Given the description of an element on the screen output the (x, y) to click on. 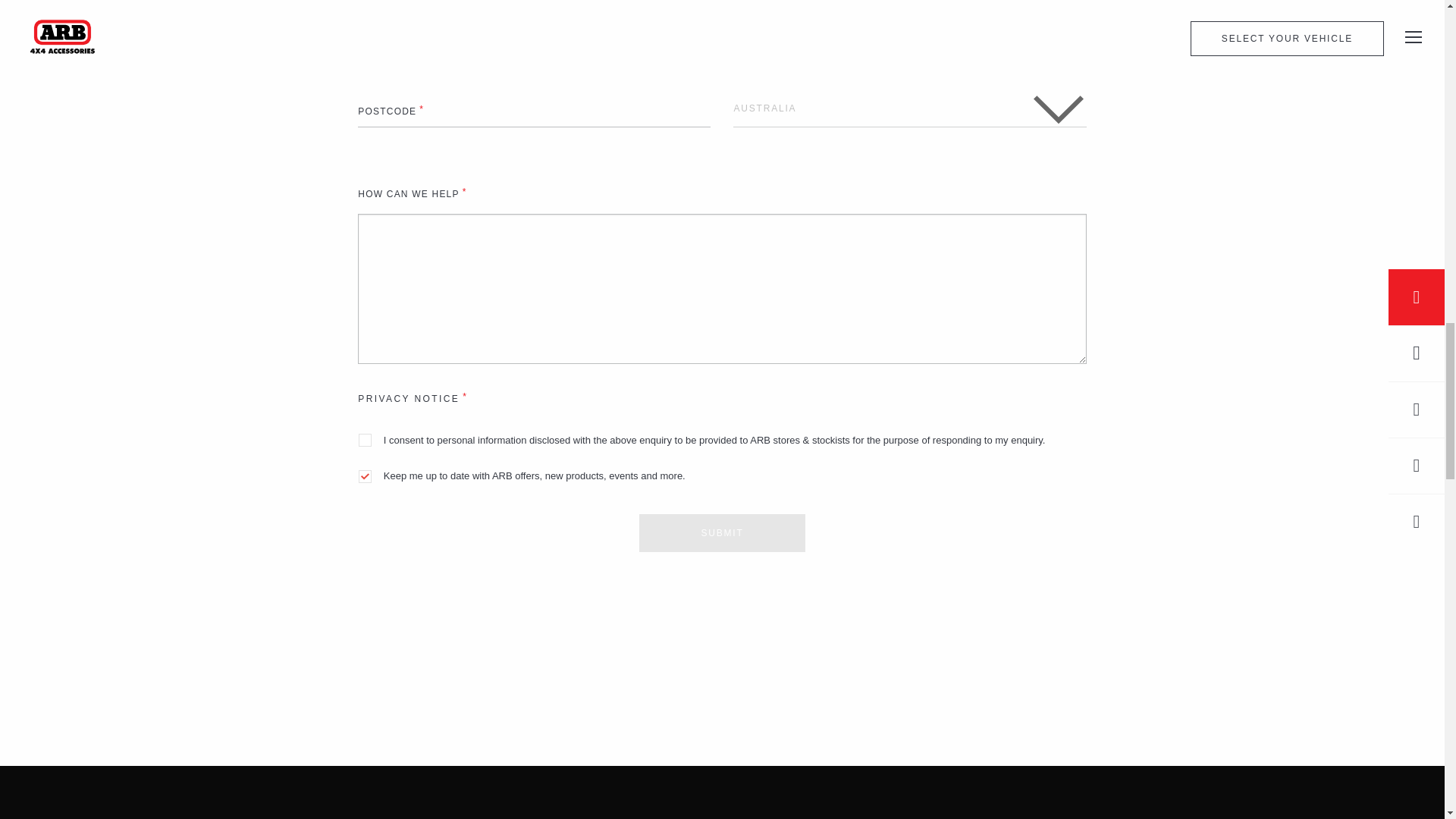
Submit (722, 533)
New Product Releases (721, 792)
4x4 Culture  (240, 792)
